Given the description of an element on the screen output the (x, y) to click on. 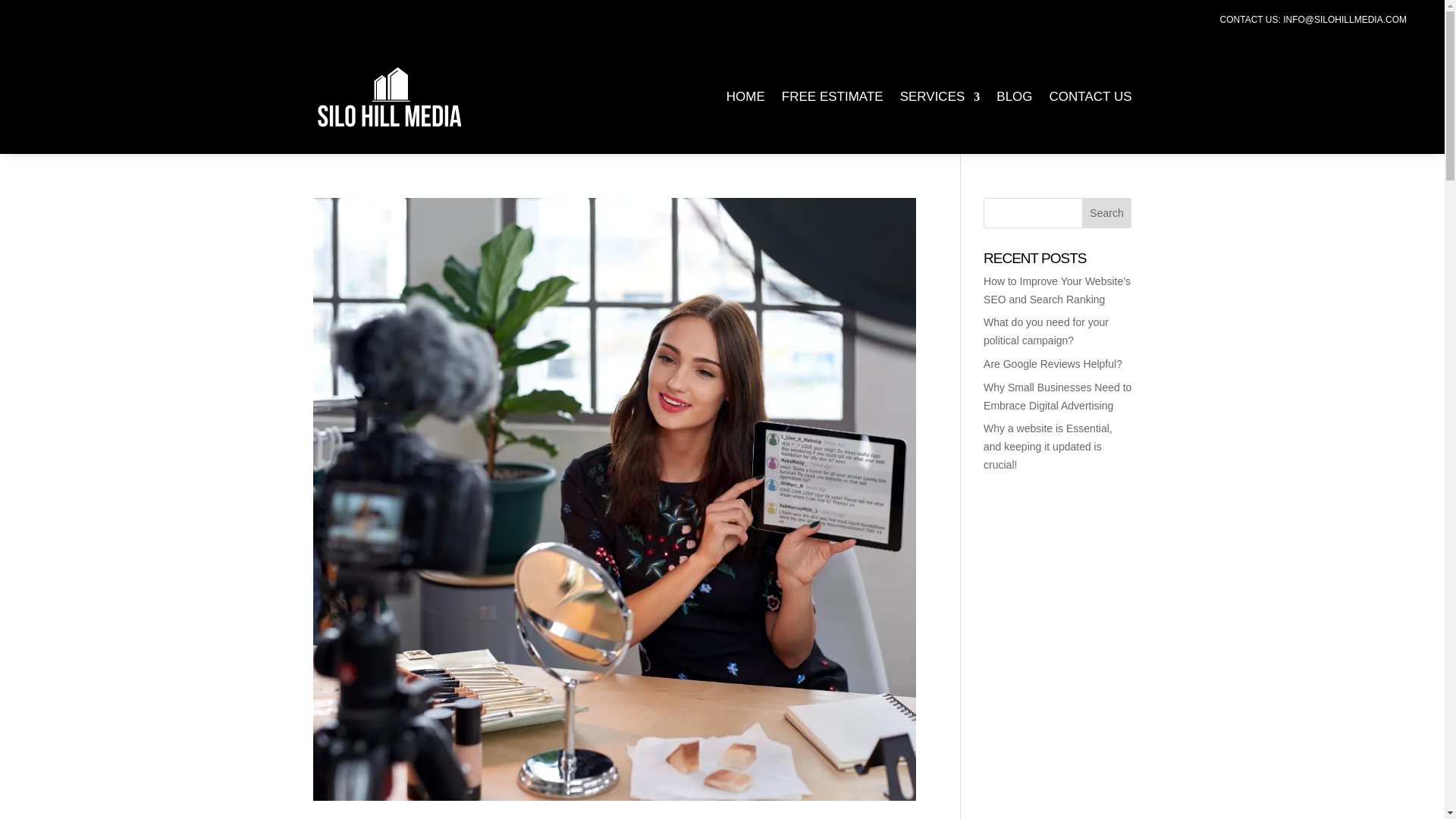
CONTACT US (1090, 97)
SERVICES (939, 97)
FREE ESTIMATE (832, 97)
Search (1106, 213)
